Given the description of an element on the screen output the (x, y) to click on. 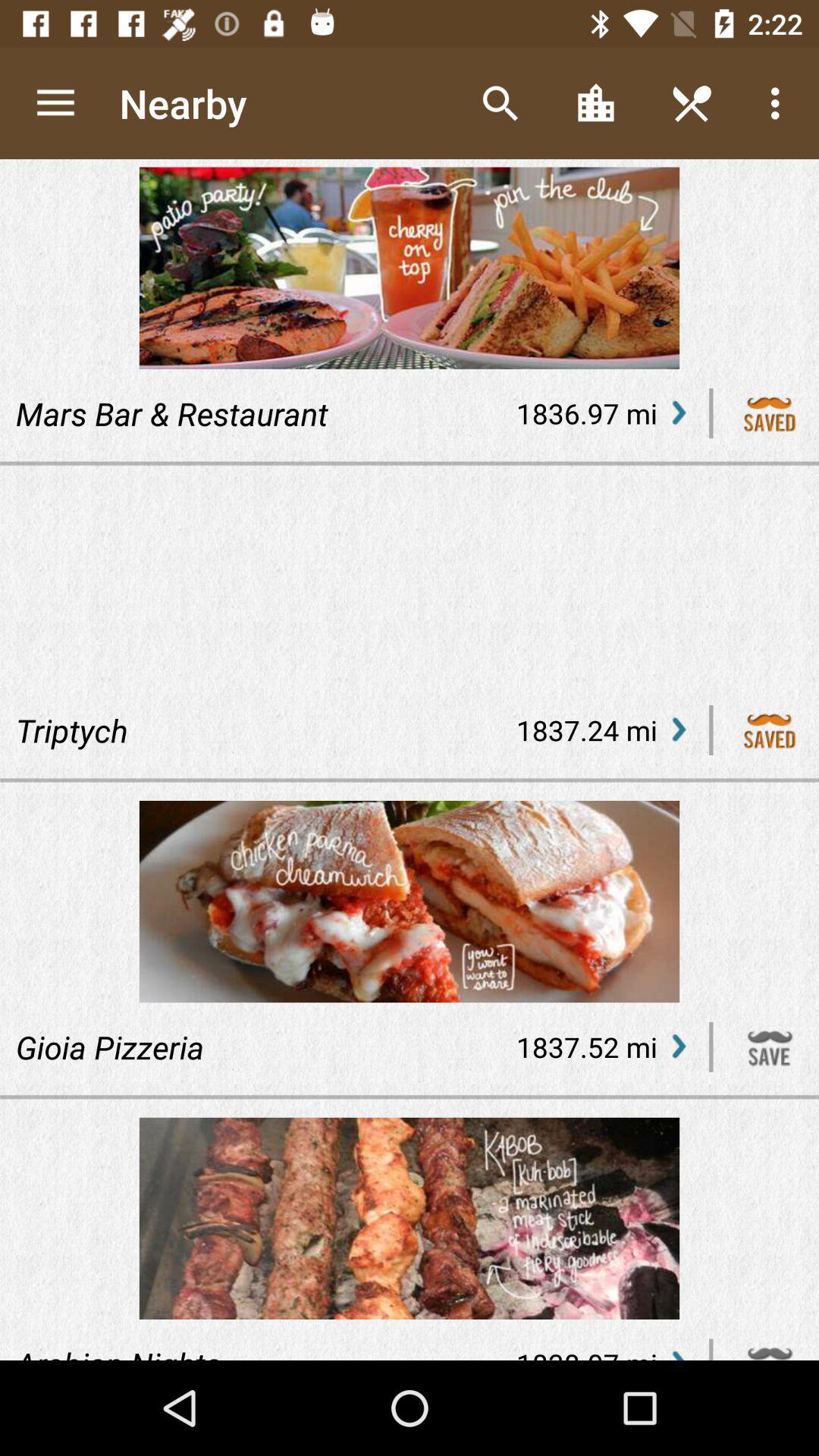
save option (770, 729)
